Given the description of an element on the screen output the (x, y) to click on. 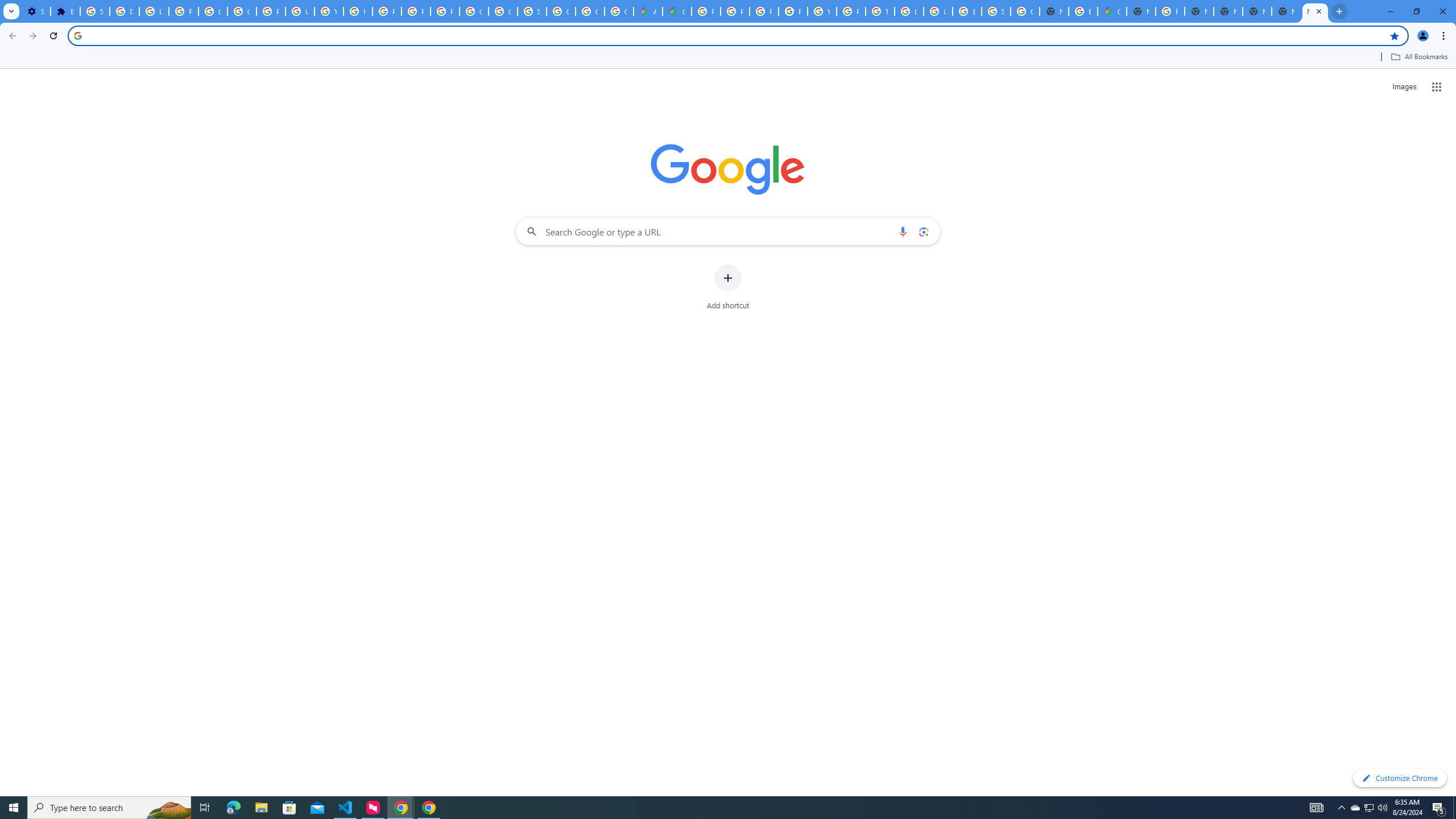
YouTube (821, 11)
Google Maps (677, 11)
Google Account Help (212, 11)
Sign in - Google Accounts (531, 11)
